Given the description of an element on the screen output the (x, y) to click on. 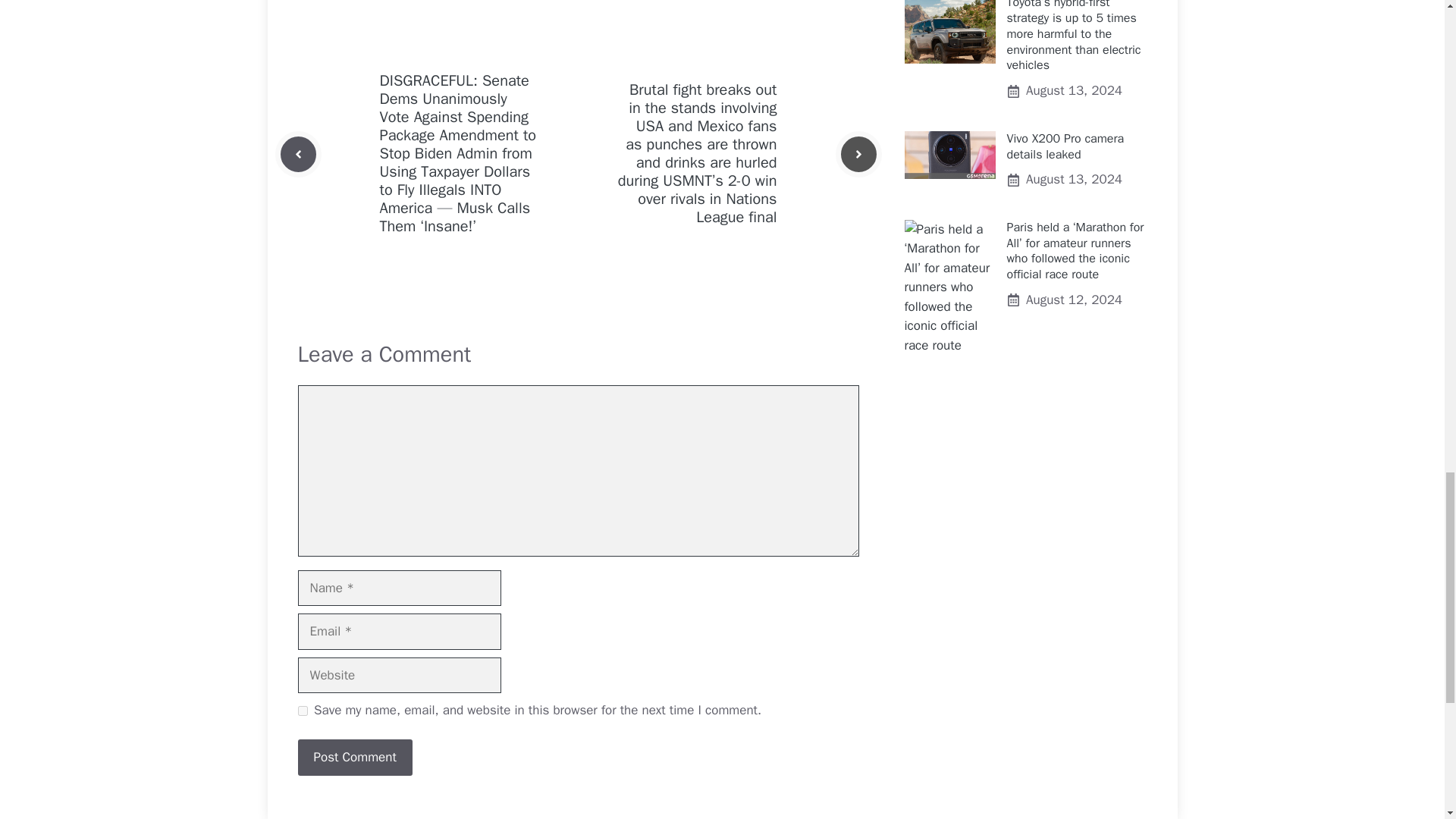
Vivo X200 Pro camera details leaked (1065, 146)
yes (302, 710)
Post Comment (354, 757)
Vivo X200 Pro camera details leaked (949, 155)
Post Comment (354, 757)
